Given the description of an element on the screen output the (x, y) to click on. 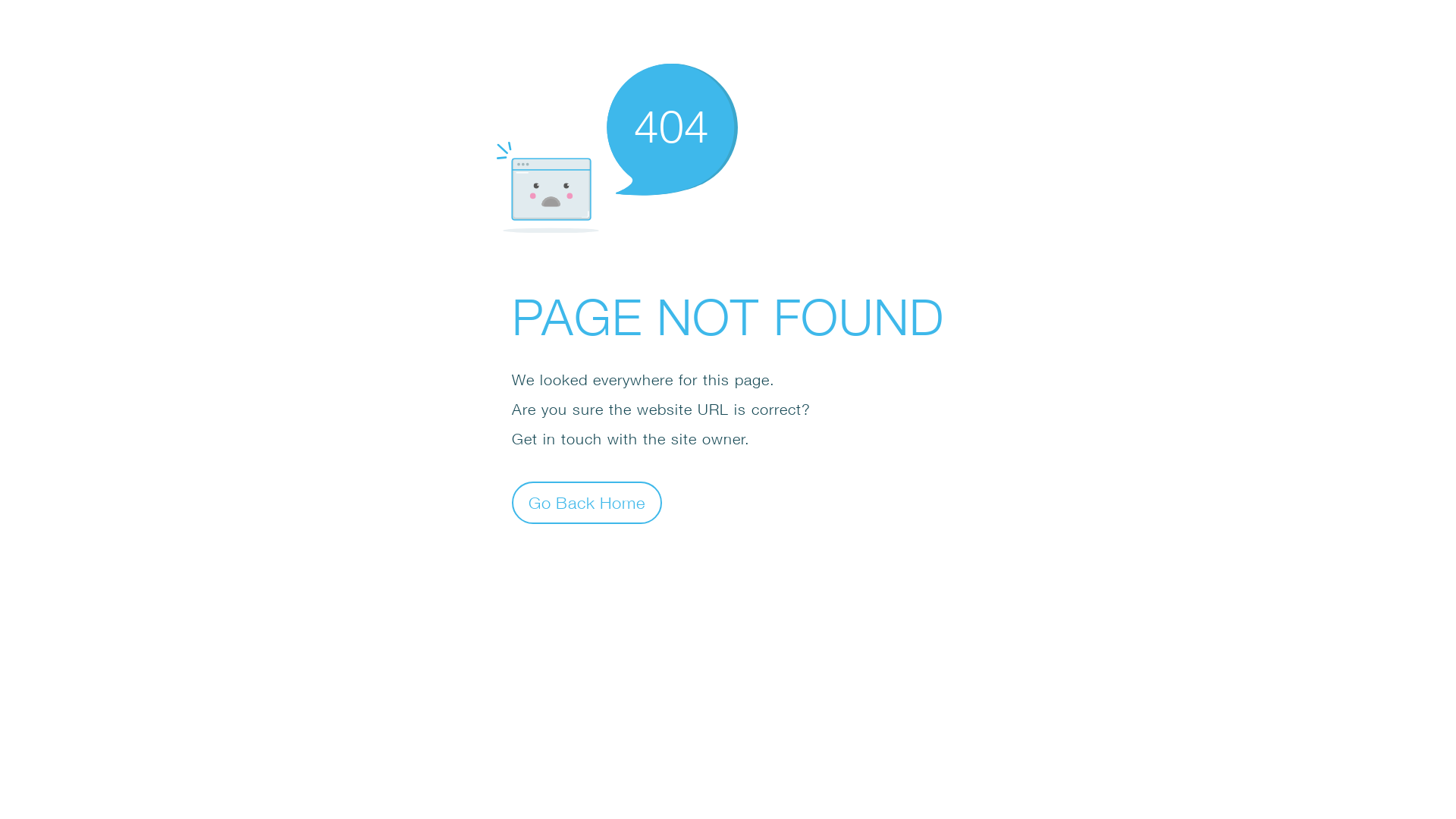
Go Back Home Element type: text (586, 502)
